Given the description of an element on the screen output the (x, y) to click on. 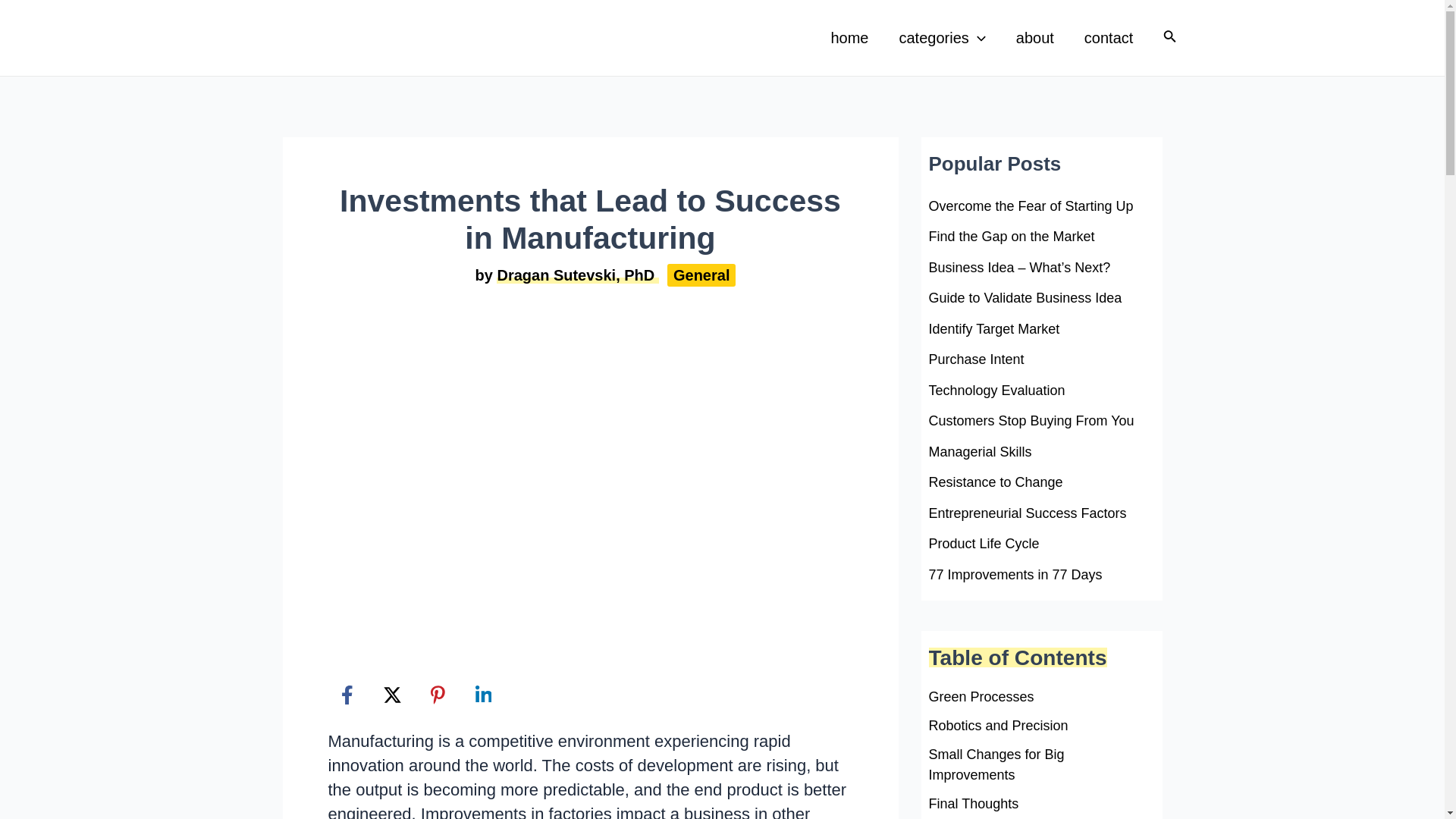
View all posts by Dragan Sutevski, PhD (577, 274)
about (1034, 37)
General (700, 274)
categories (941, 37)
Final Thoughts (972, 803)
Green Processes (980, 697)
home (849, 37)
Robotics and Precision (997, 725)
Dragan Sutevski, PhD (577, 274)
Small Changes for Big Improvements (1041, 764)
